Given the description of an element on the screen output the (x, y) to click on. 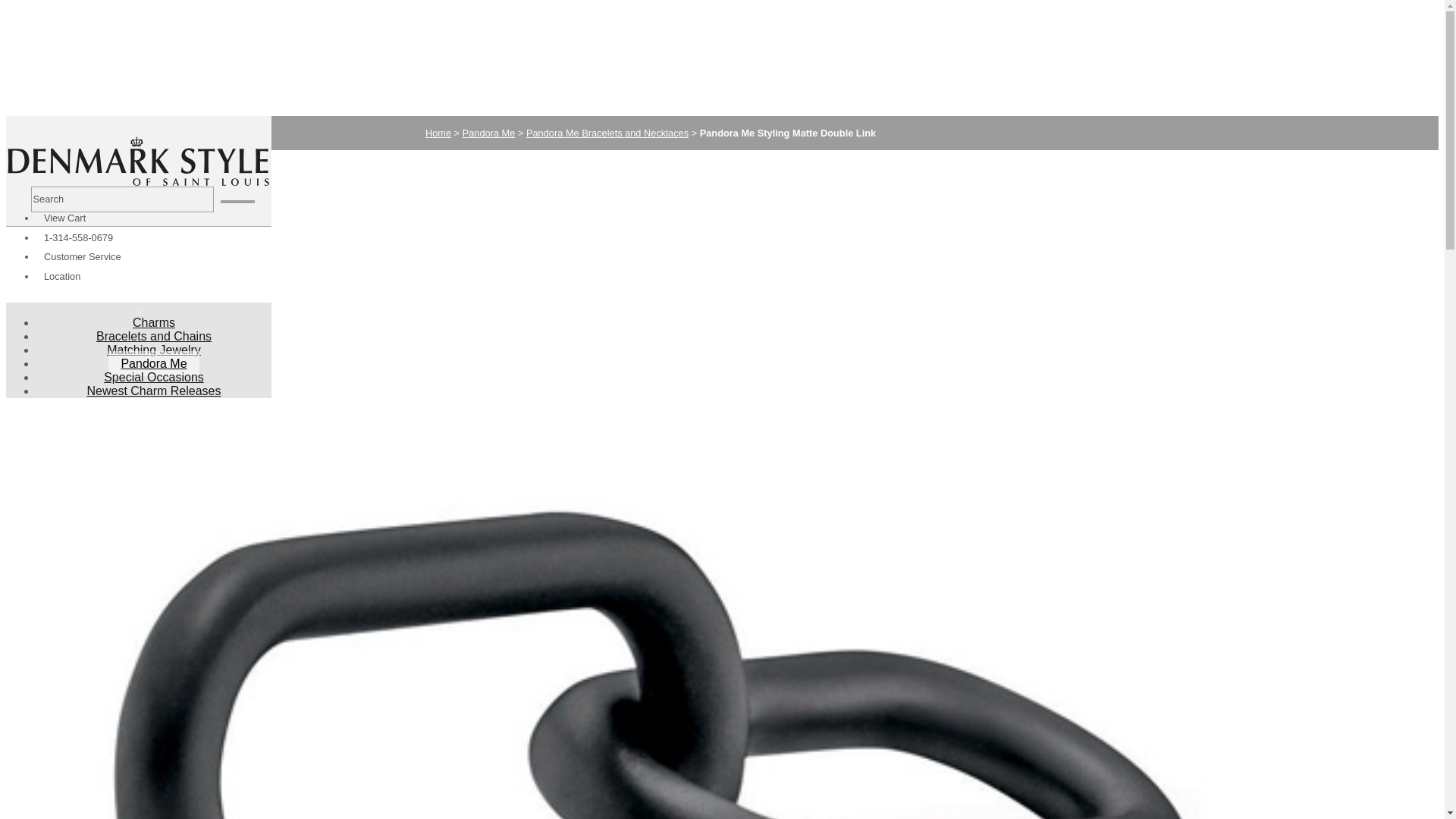
GO (237, 201)
 1-314-558-0679 (76, 237)
Pandora Me Bracelets and Necklaces (606, 132)
Charms (153, 322)
 View Cart (63, 217)
Bracelets and Chains (154, 335)
Matching Jewelry (153, 349)
Search For (121, 199)
Begin Search (237, 201)
 Location (60, 276)
Pandora Me (489, 132)
Special Occasions (153, 376)
Home (438, 132)
Pandora Me (152, 363)
Newest Charm Releases (153, 390)
